Given the description of an element on the screen output the (x, y) to click on. 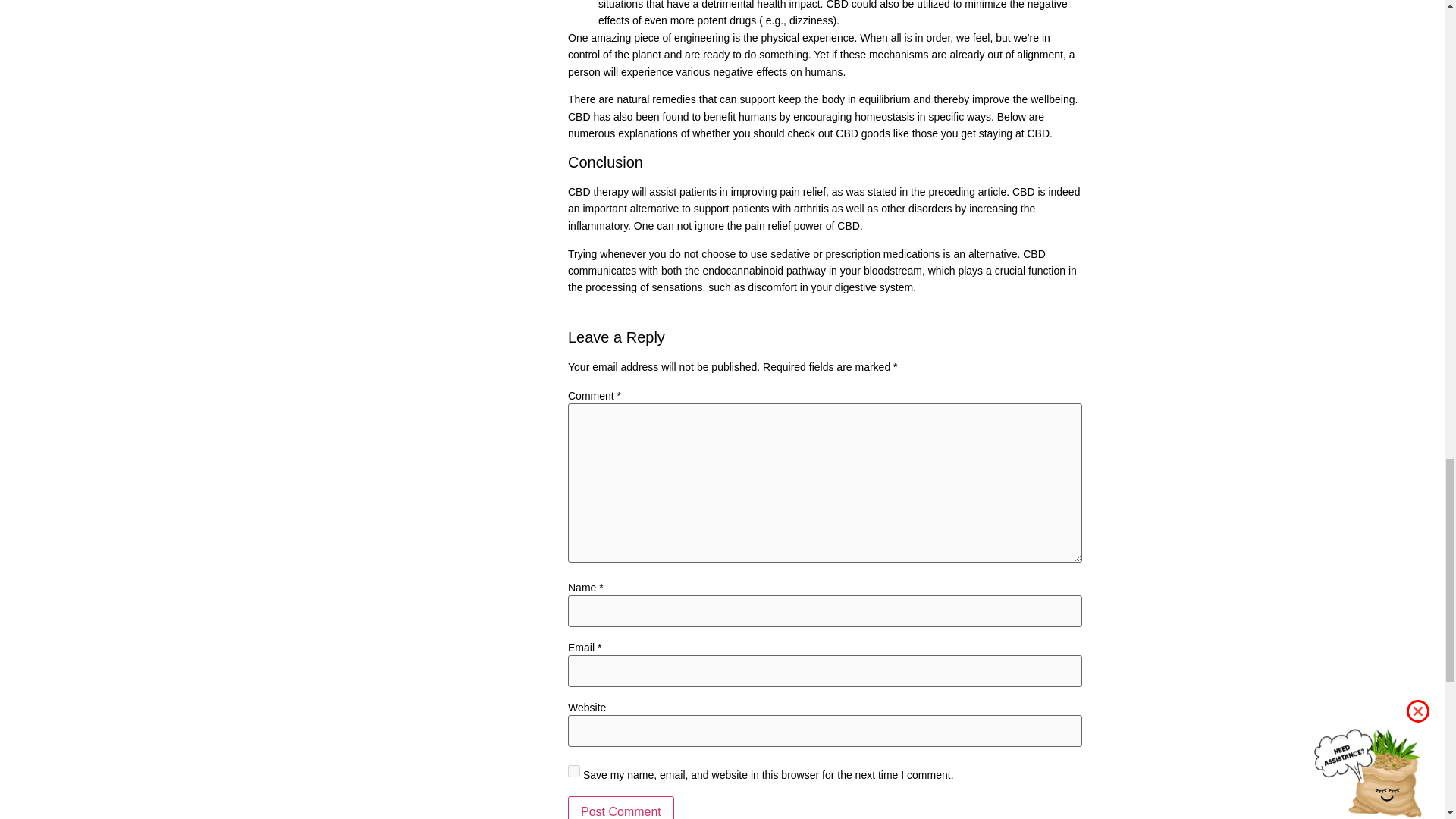
yes (573, 770)
Post Comment (620, 807)
